Given the description of an element on the screen output the (x, y) to click on. 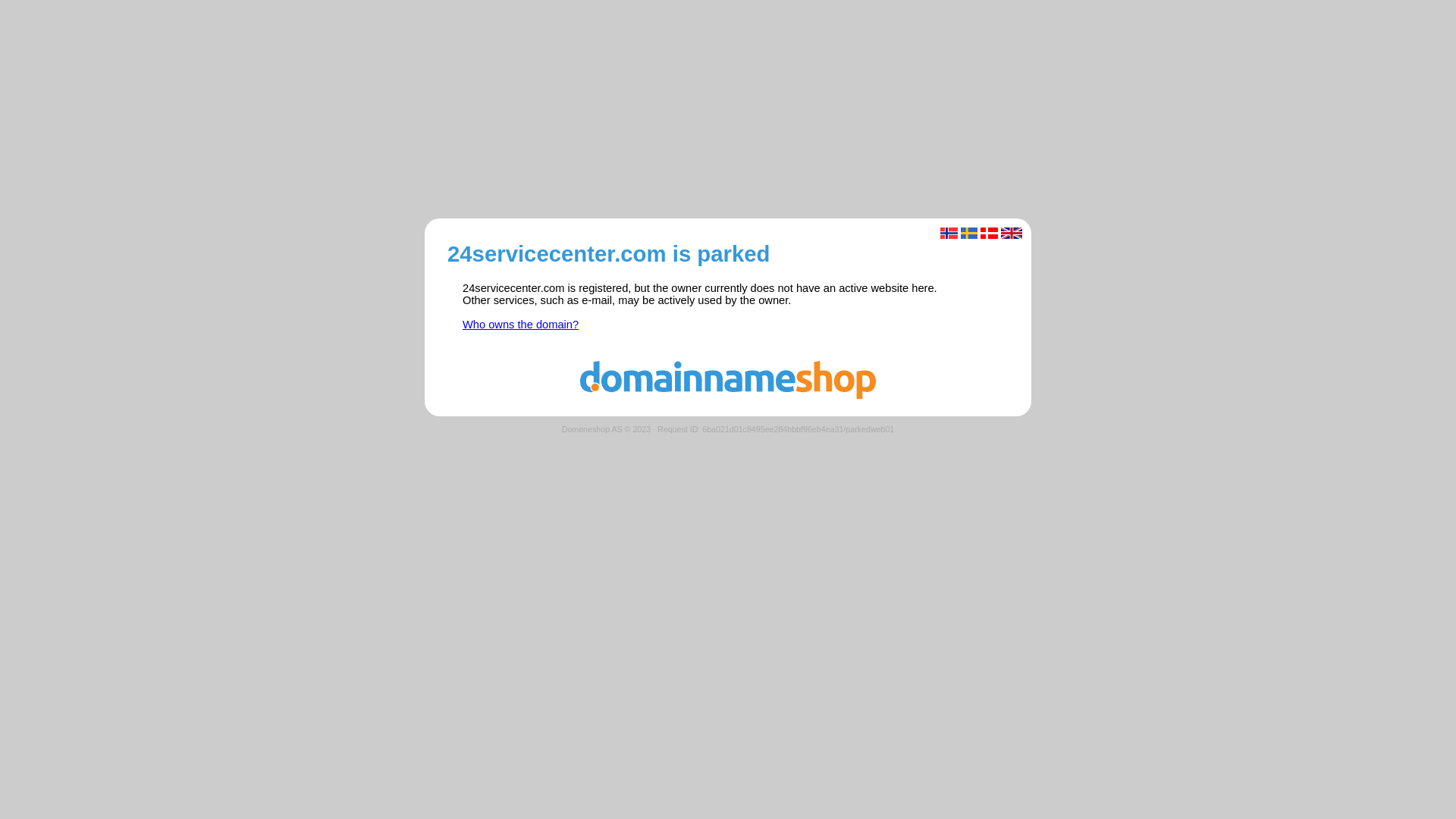
Svenska Element type: hover (968, 232)
Who owns the domain? Element type: text (520, 324)
Dansk Element type: hover (988, 232)
English Element type: hover (1011, 232)
Norsk Element type: hover (948, 232)
